Given the description of an element on the screen output the (x, y) to click on. 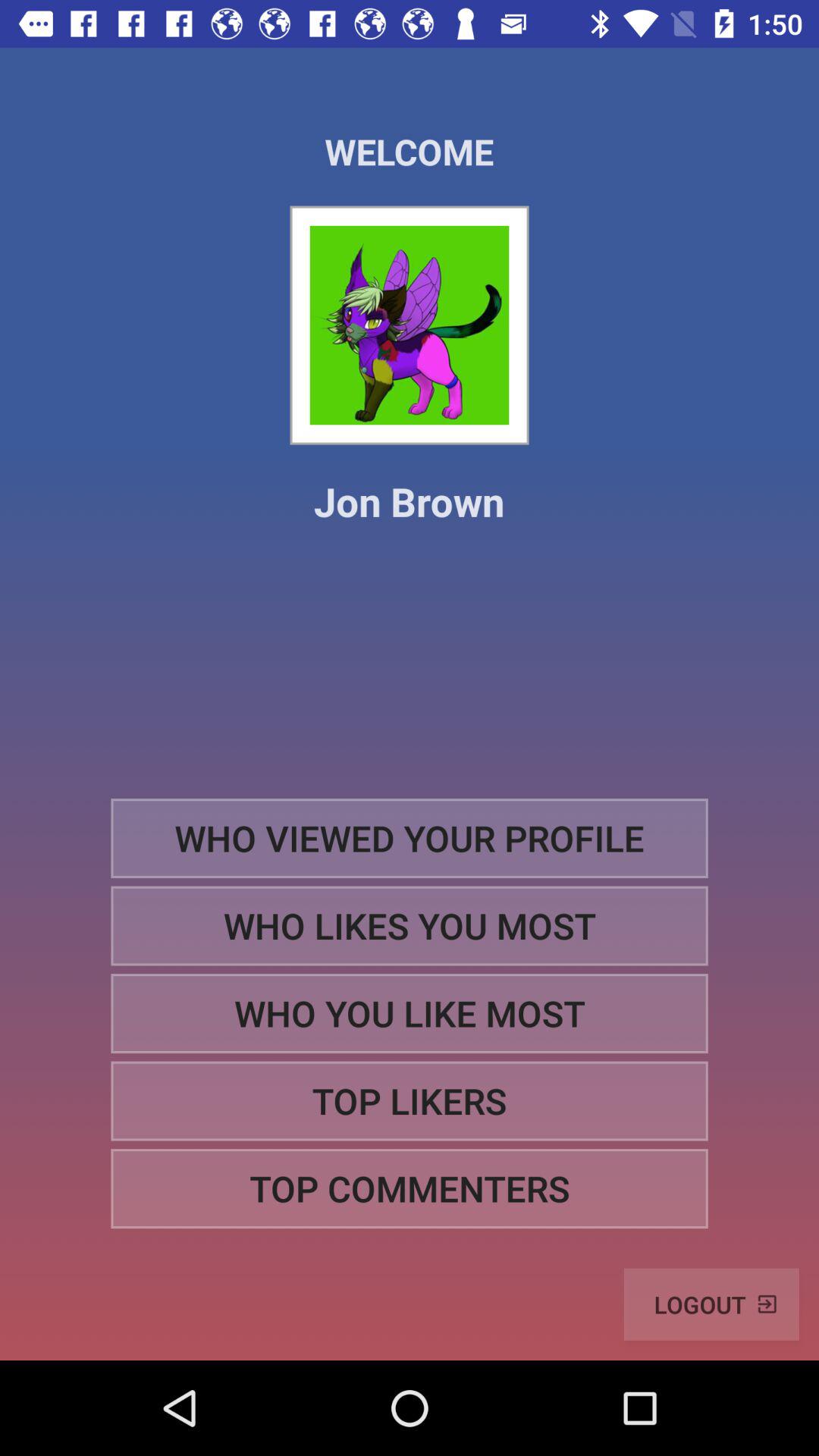
select the item below the who you like item (409, 1100)
